Given the description of an element on the screen output the (x, y) to click on. 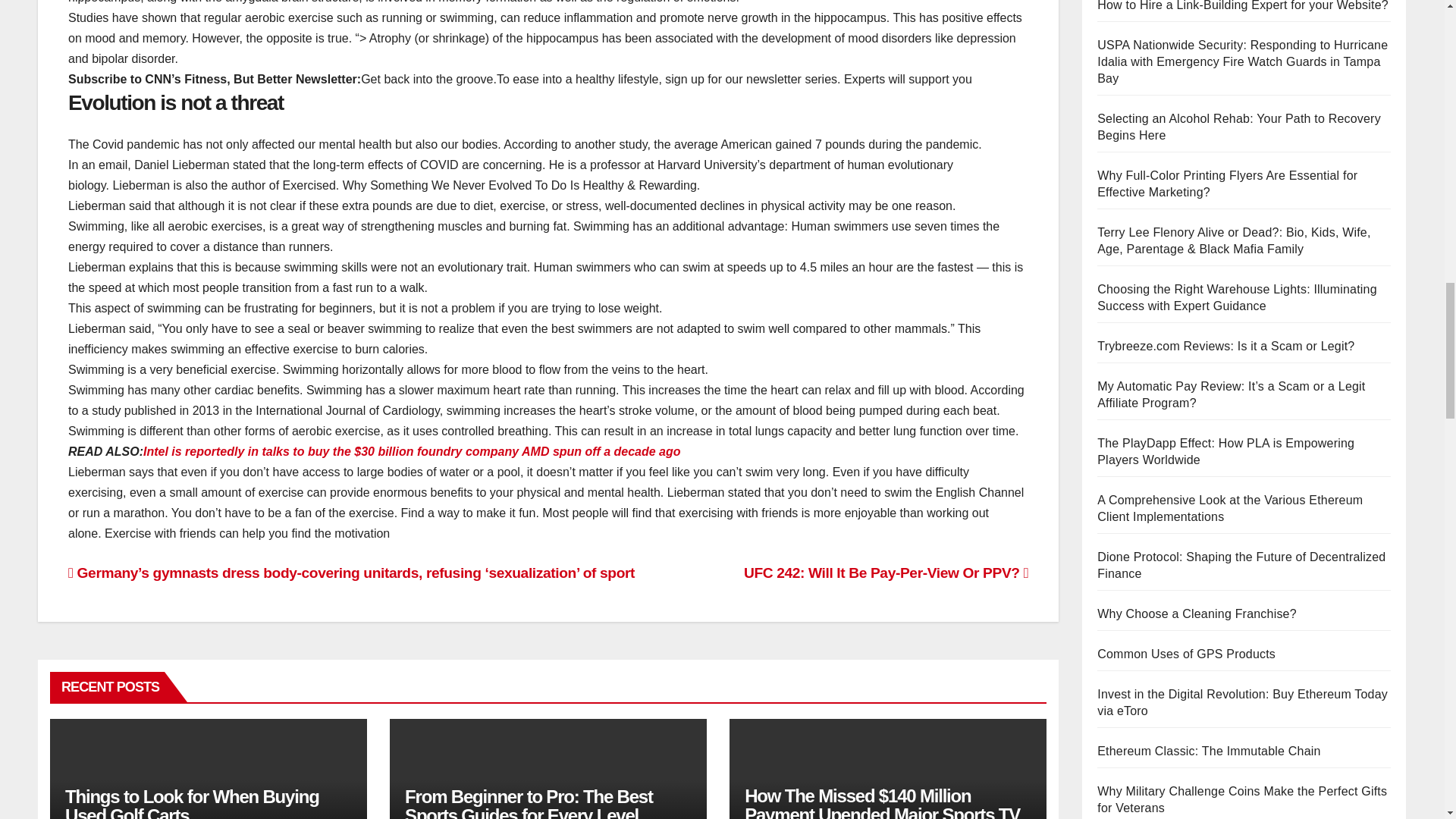
UFC 242: Will It Be Pay-Per-View Or PPV? (885, 572)
Permalink to: Things to Look for When Buying Used Golf Carts (191, 802)
